Given the description of an element on the screen output the (x, y) to click on. 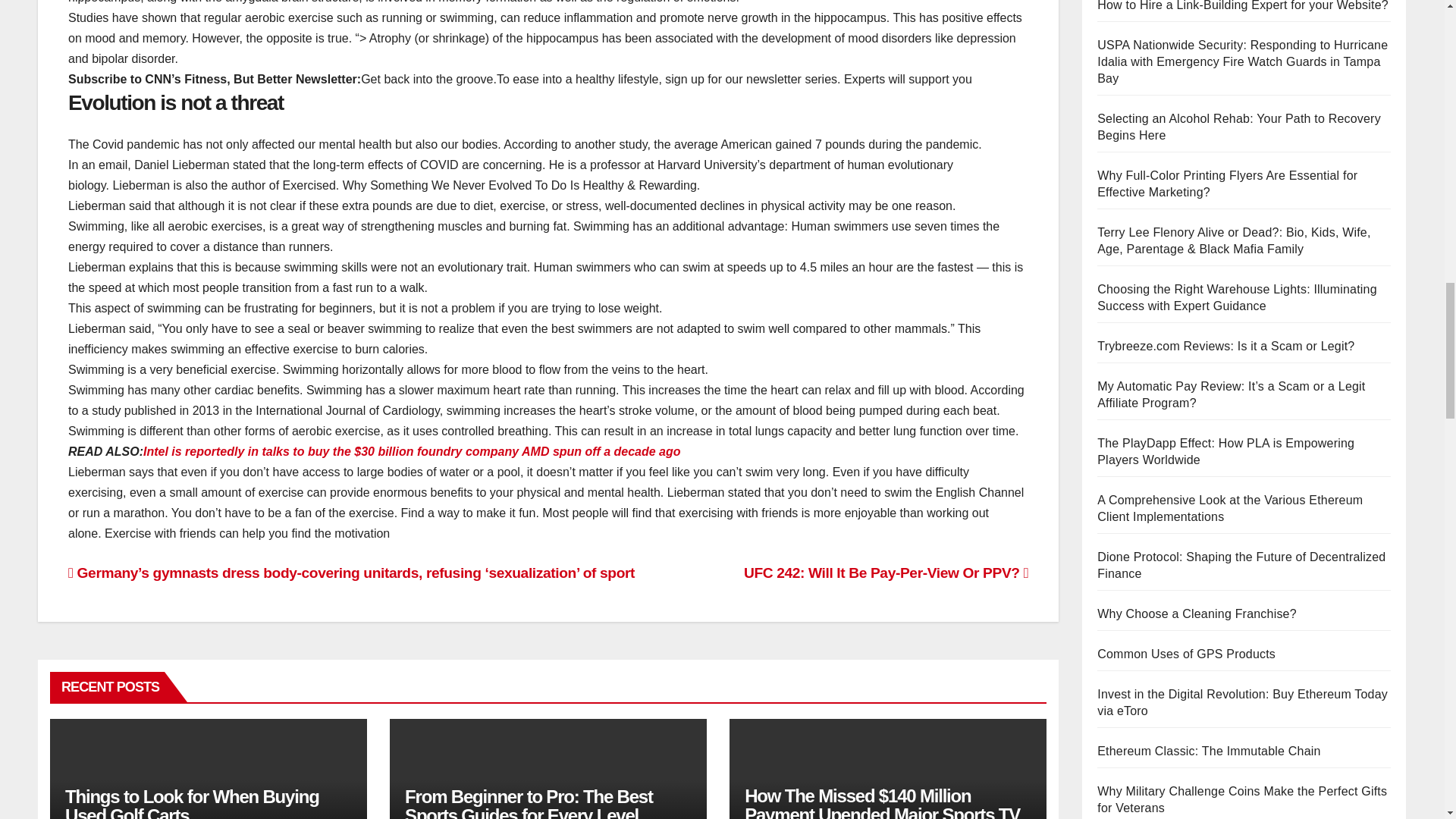
UFC 242: Will It Be Pay-Per-View Or PPV? (885, 572)
Permalink to: Things to Look for When Buying Used Golf Carts (191, 802)
